Given the description of an element on the screen output the (x, y) to click on. 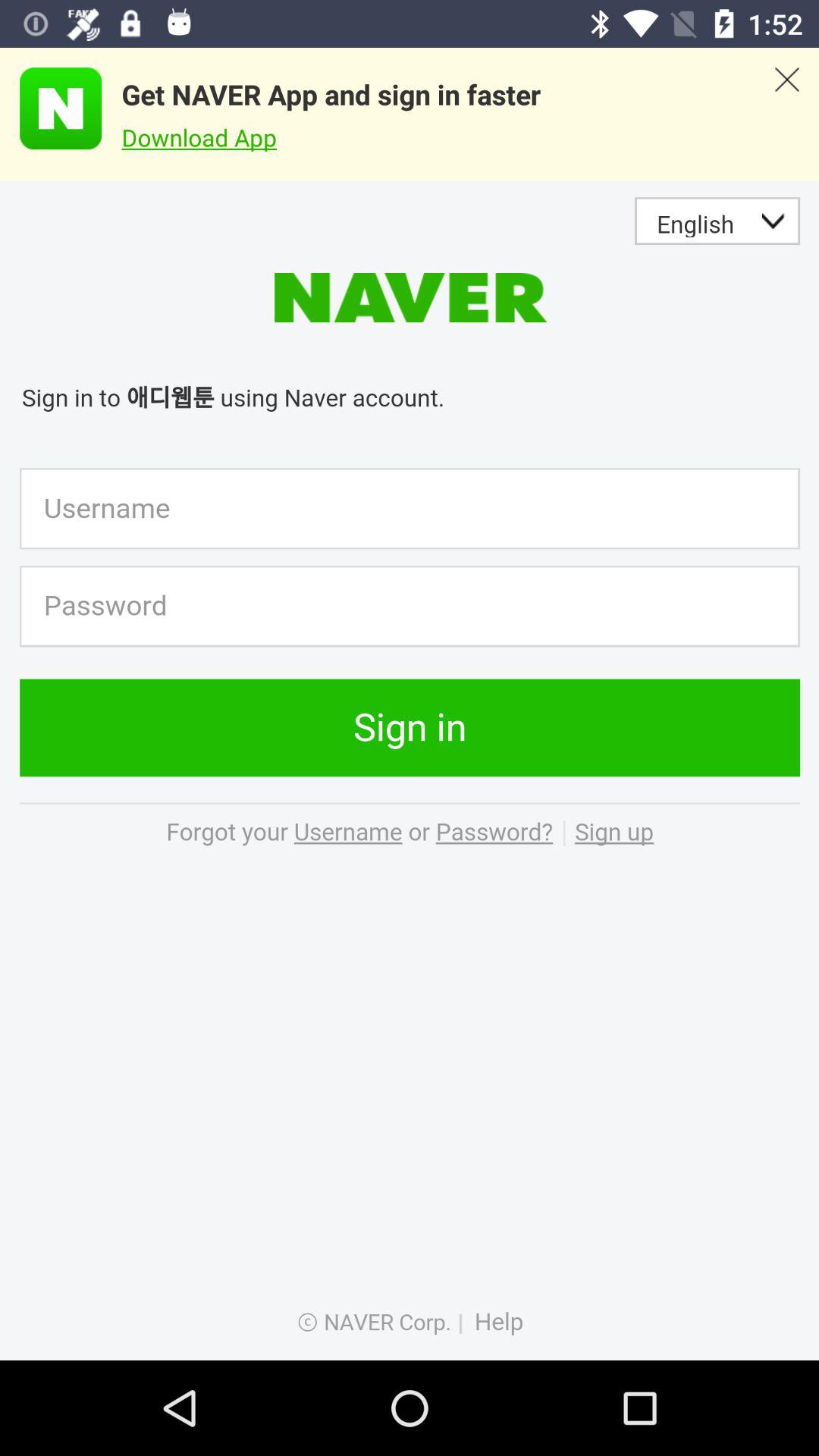
go to app (50, 108)
